Given the description of an element on the screen output the (x, y) to click on. 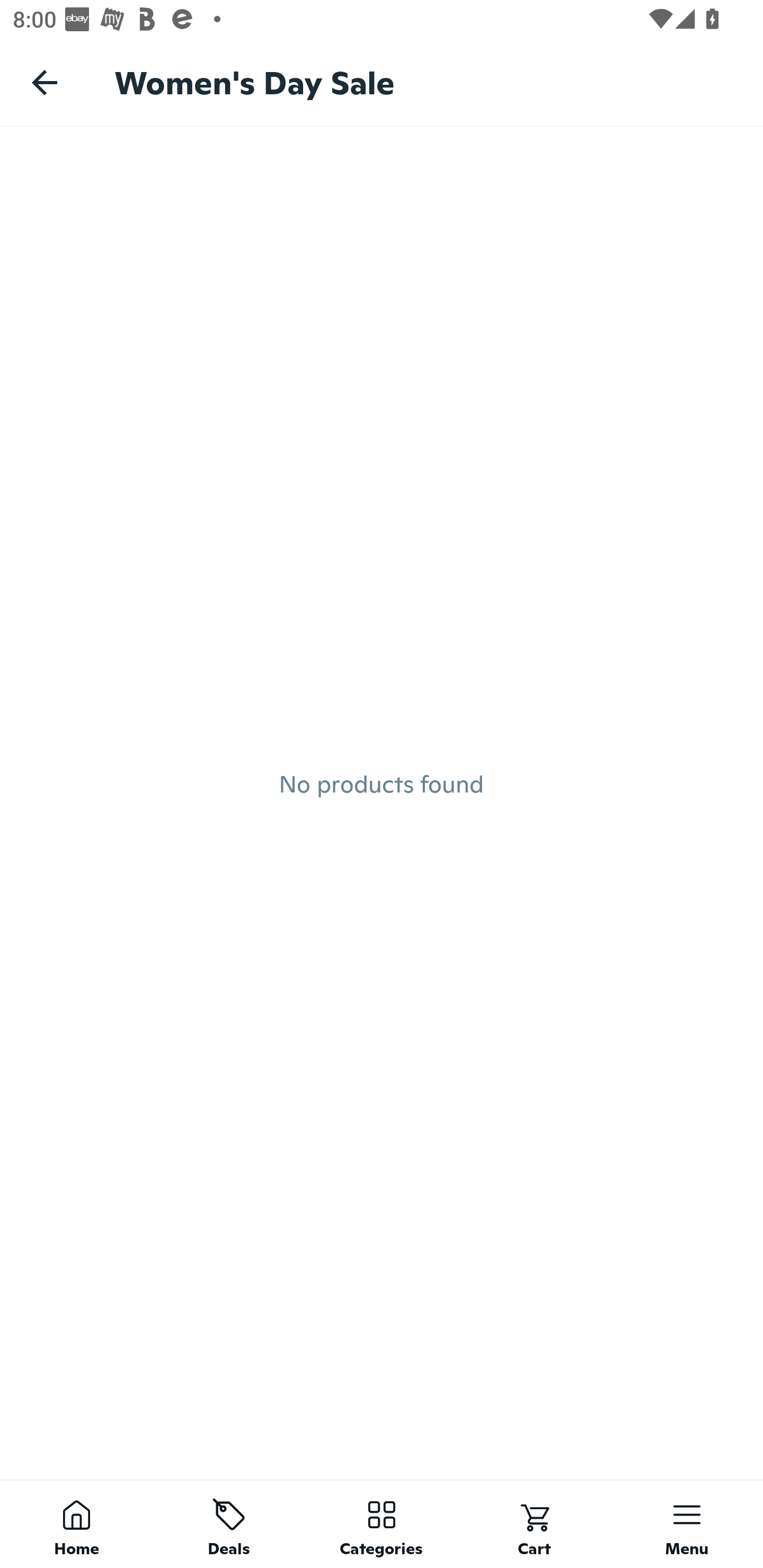
Navigate up (44, 82)
Home (76, 1523)
Deals (228, 1523)
Categories (381, 1523)
Cart (533, 1523)
Menu (686, 1523)
